Given the description of an element on the screen output the (x, y) to click on. 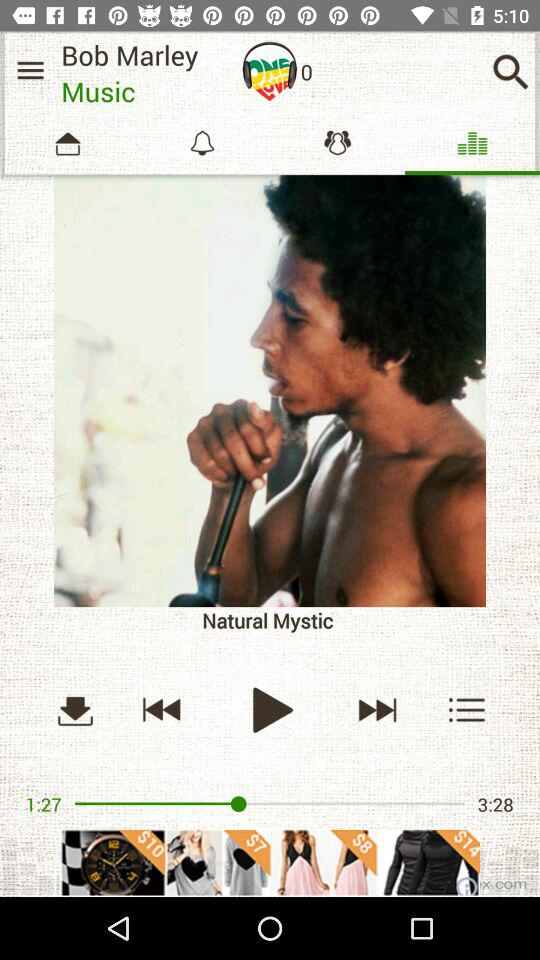
open menu (467, 709)
